Given the description of an element on the screen output the (x, y) to click on. 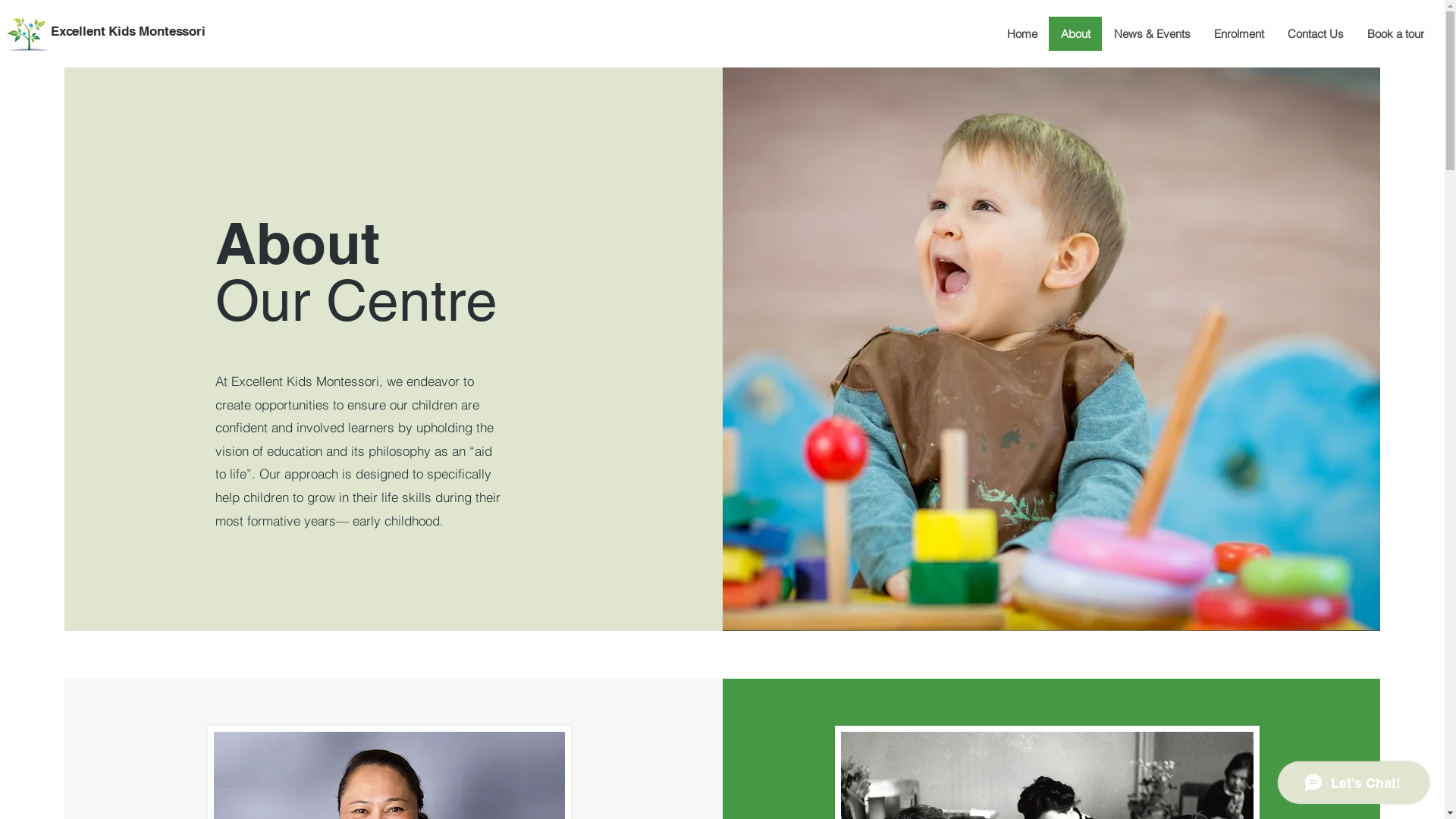
Home Element type: text (1021, 33)
Book a tour Element type: text (1395, 33)
News & Events Element type: text (1151, 33)
About Element type: text (1074, 33)
Enrolment Element type: text (1238, 33)
Contact Us Element type: text (1315, 33)
